Given the description of an element on the screen output the (x, y) to click on. 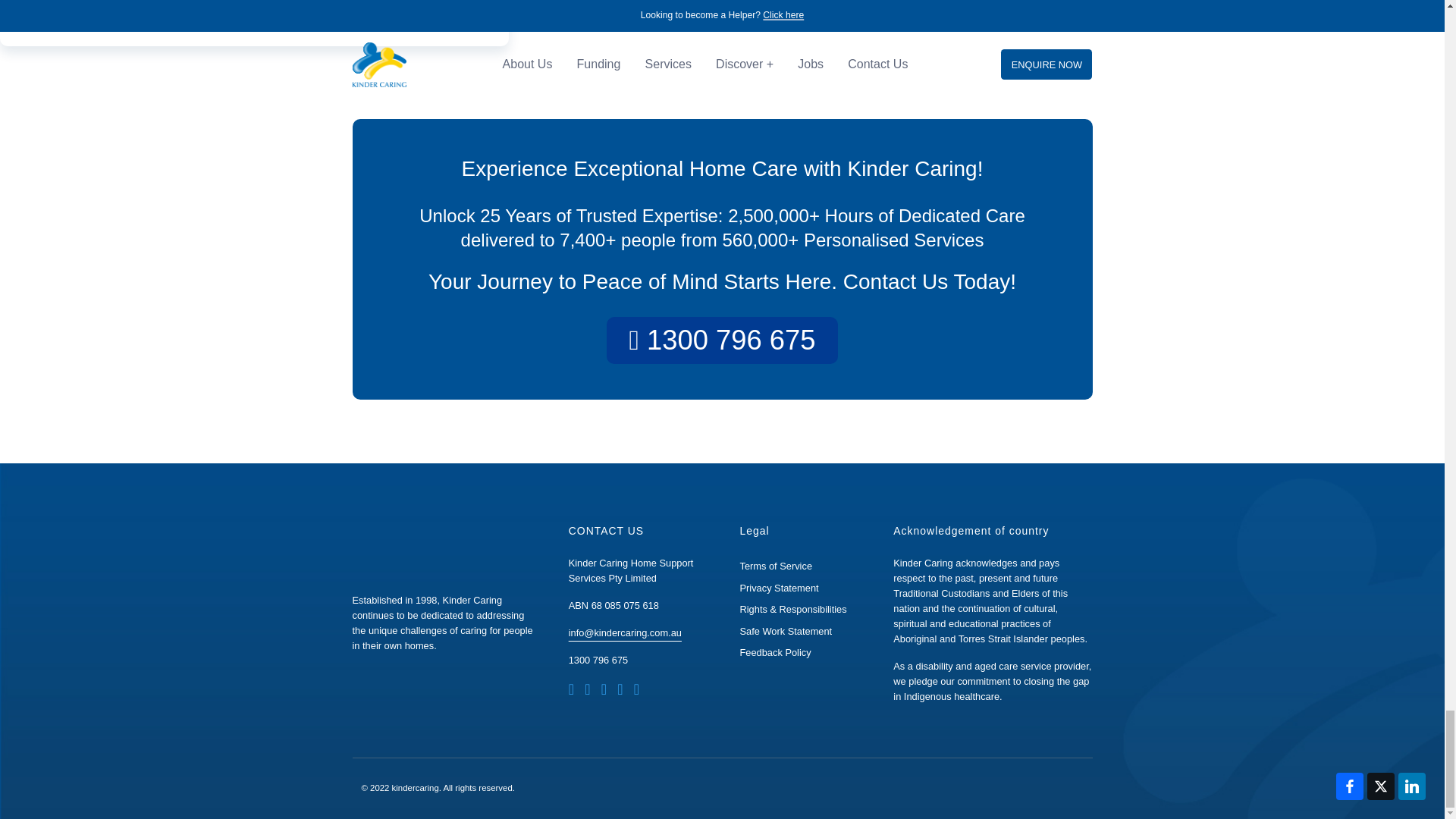
Privacy Statement (778, 587)
1300 796 675 (722, 339)
1300 796 675 (598, 659)
Terms of Service (775, 565)
Feedback Policy (774, 652)
Safe Work Statement (785, 631)
